Given the description of an element on the screen output the (x, y) to click on. 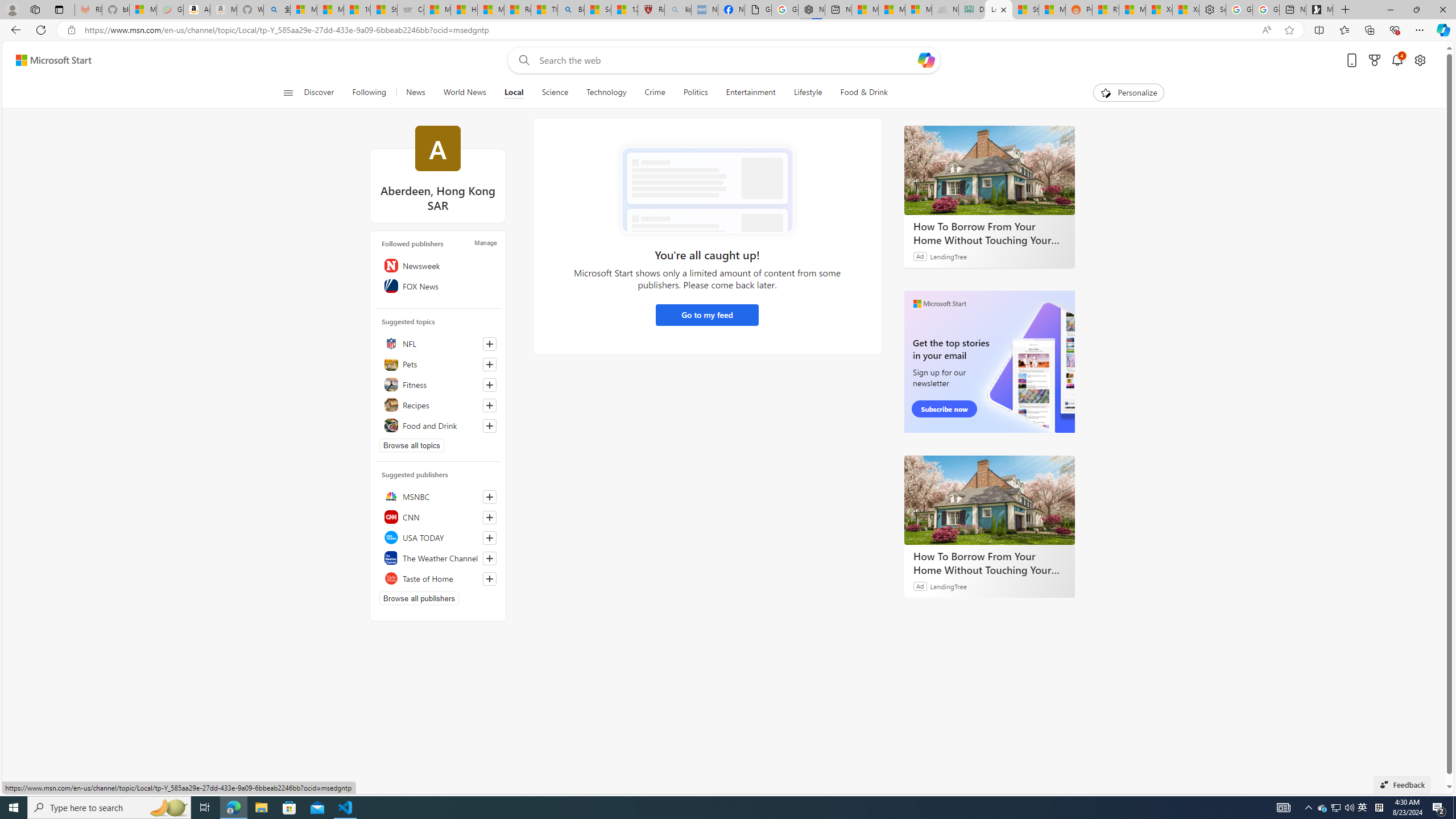
Subscribe now (943, 408)
